Given the description of an element on the screen output the (x, y) to click on. 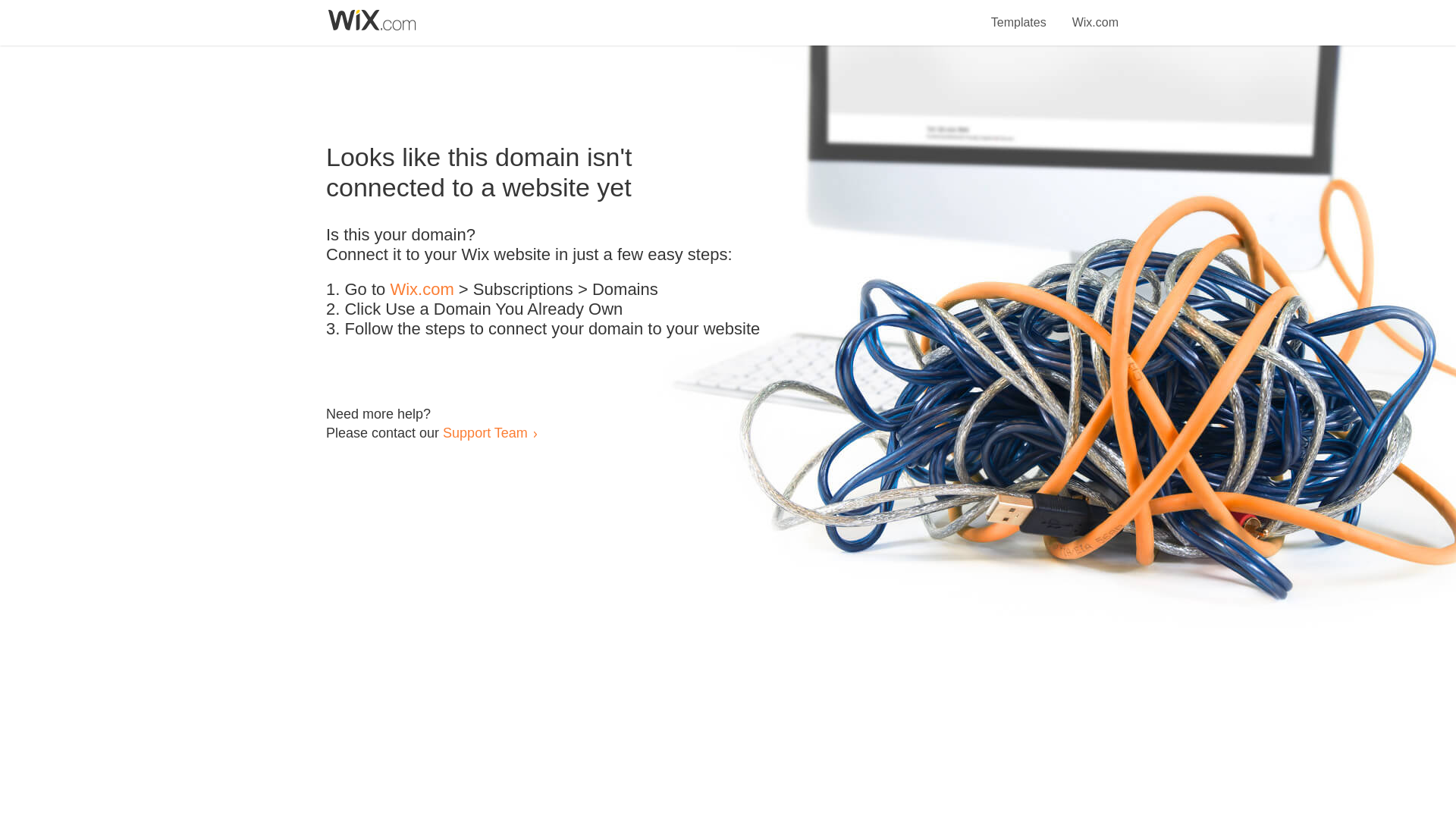
Wix.com (1095, 14)
Templates (1018, 14)
Support Team (484, 432)
Wix.com (421, 289)
